Given the description of an element on the screen output the (x, y) to click on. 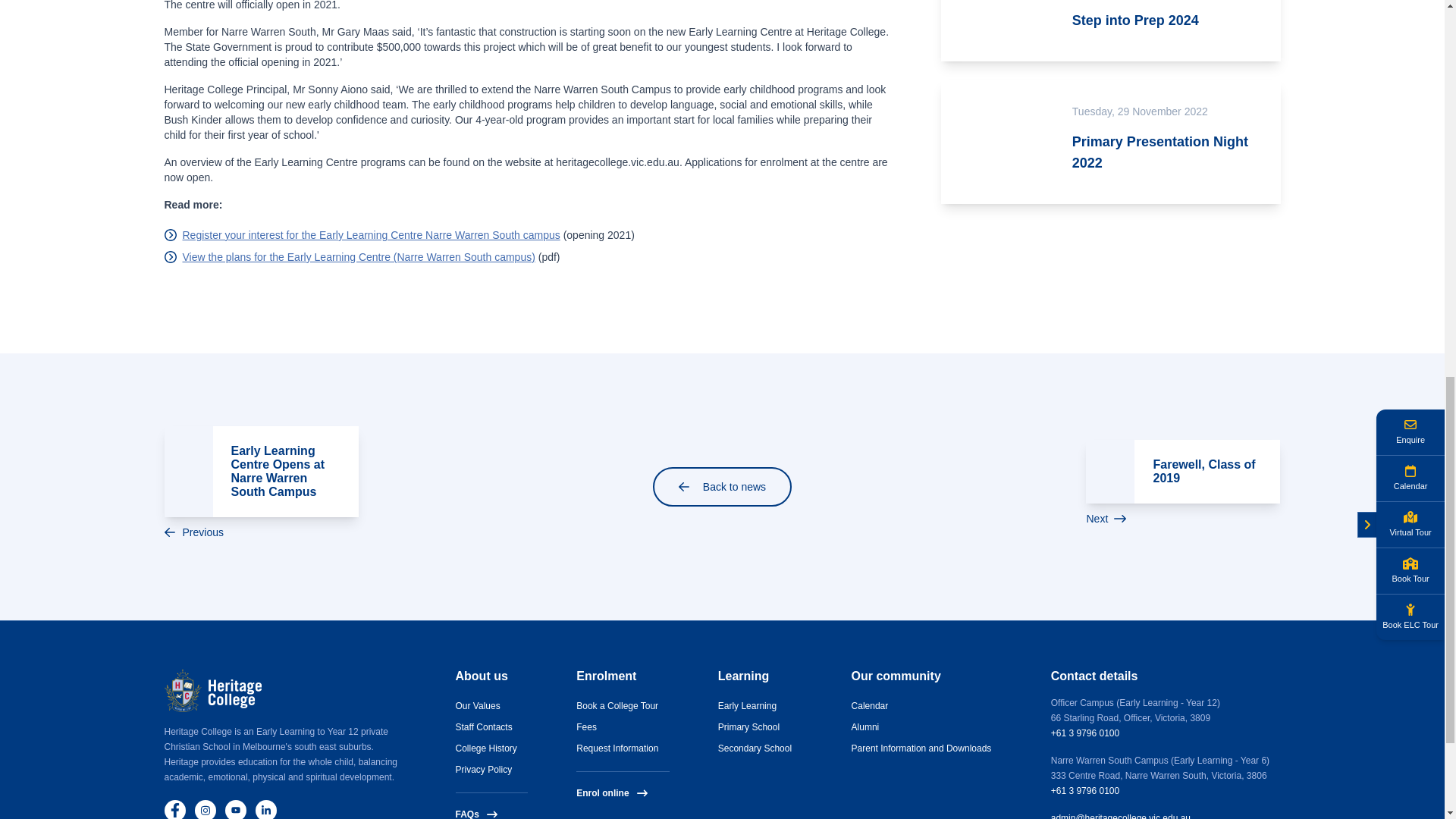
Heritage College (211, 690)
